Given the description of an element on the screen output the (x, y) to click on. 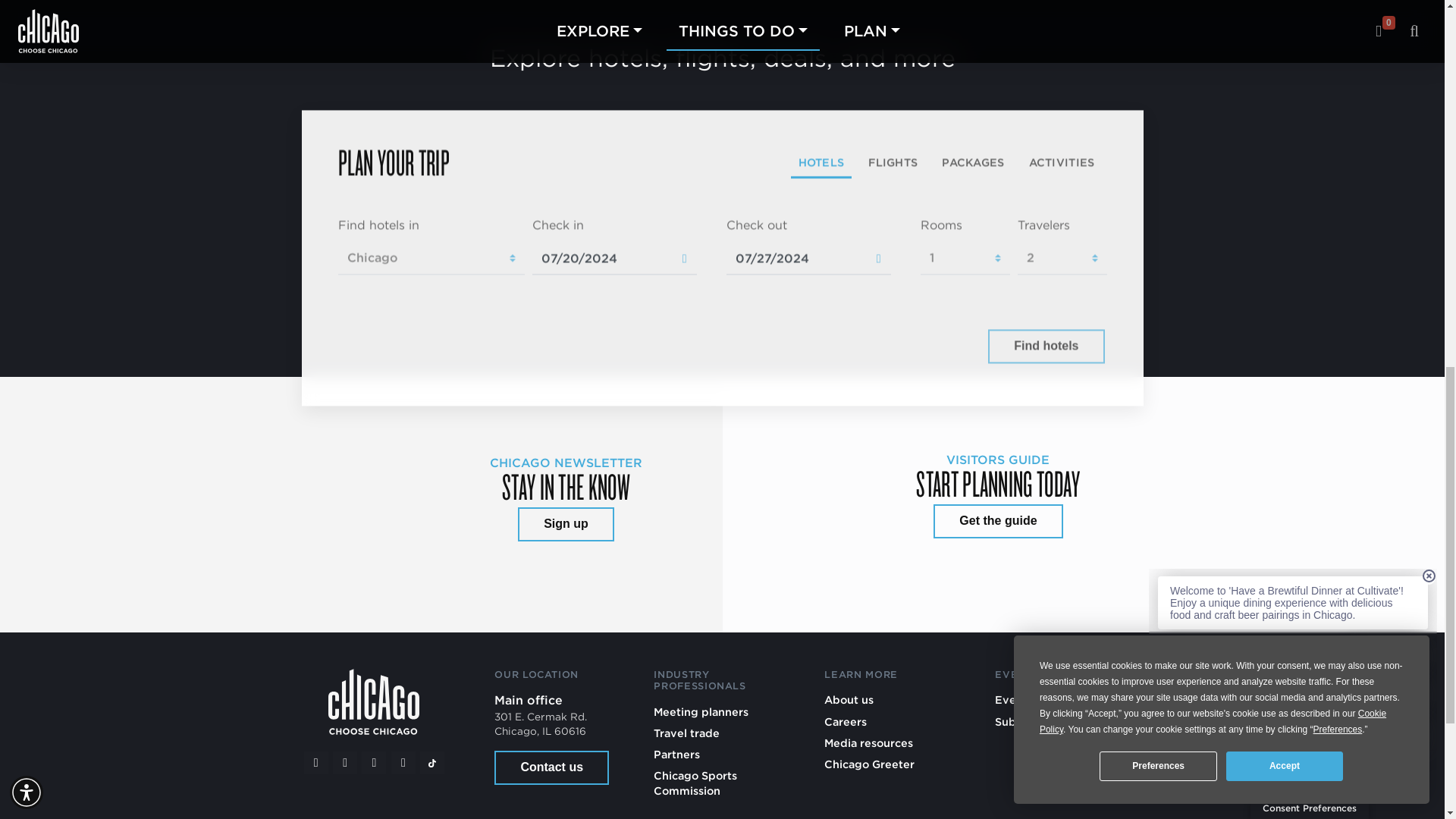
Powered by Expedia (917, 346)
